Given the description of an element on the screen output the (x, y) to click on. 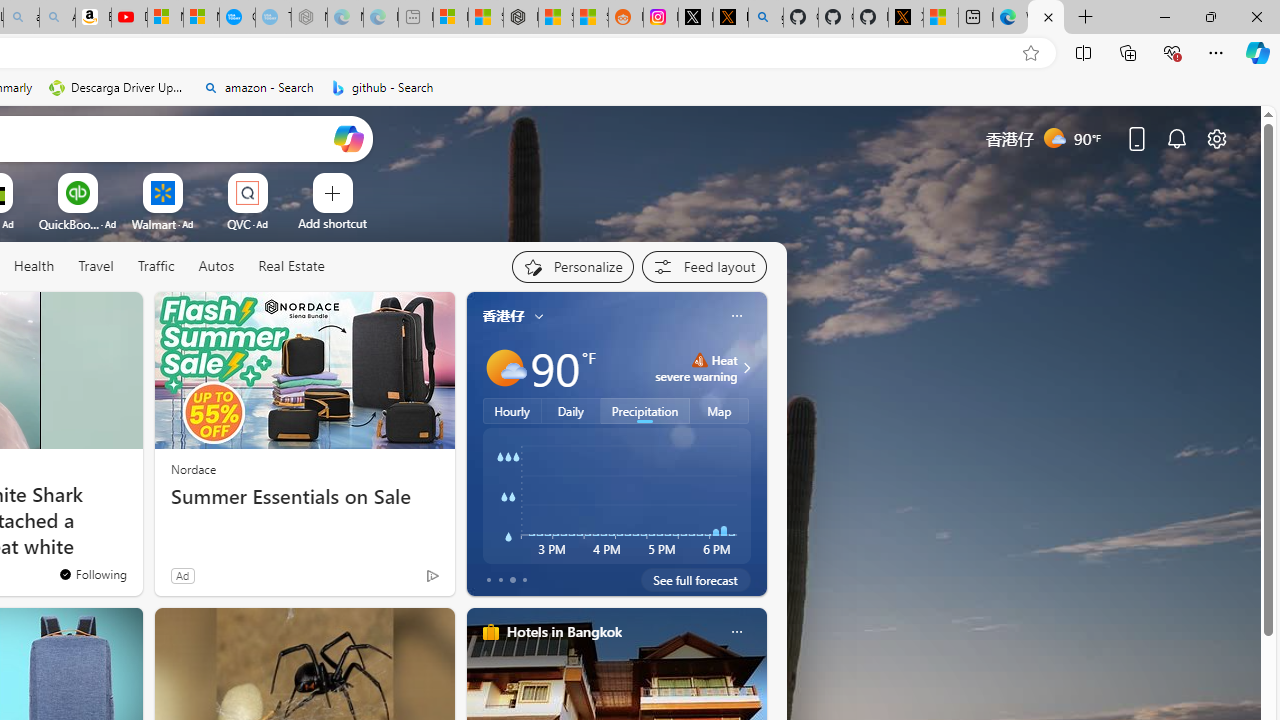
Welcome to Microsoft Edge (1010, 17)
hotels-header-icon (490, 632)
Travel (95, 267)
github - Search (765, 17)
Shanghai, China Weather trends | Microsoft Weather (590, 17)
Mostly sunny (504, 368)
My location (538, 315)
